Given the description of an element on the screen output the (x, y) to click on. 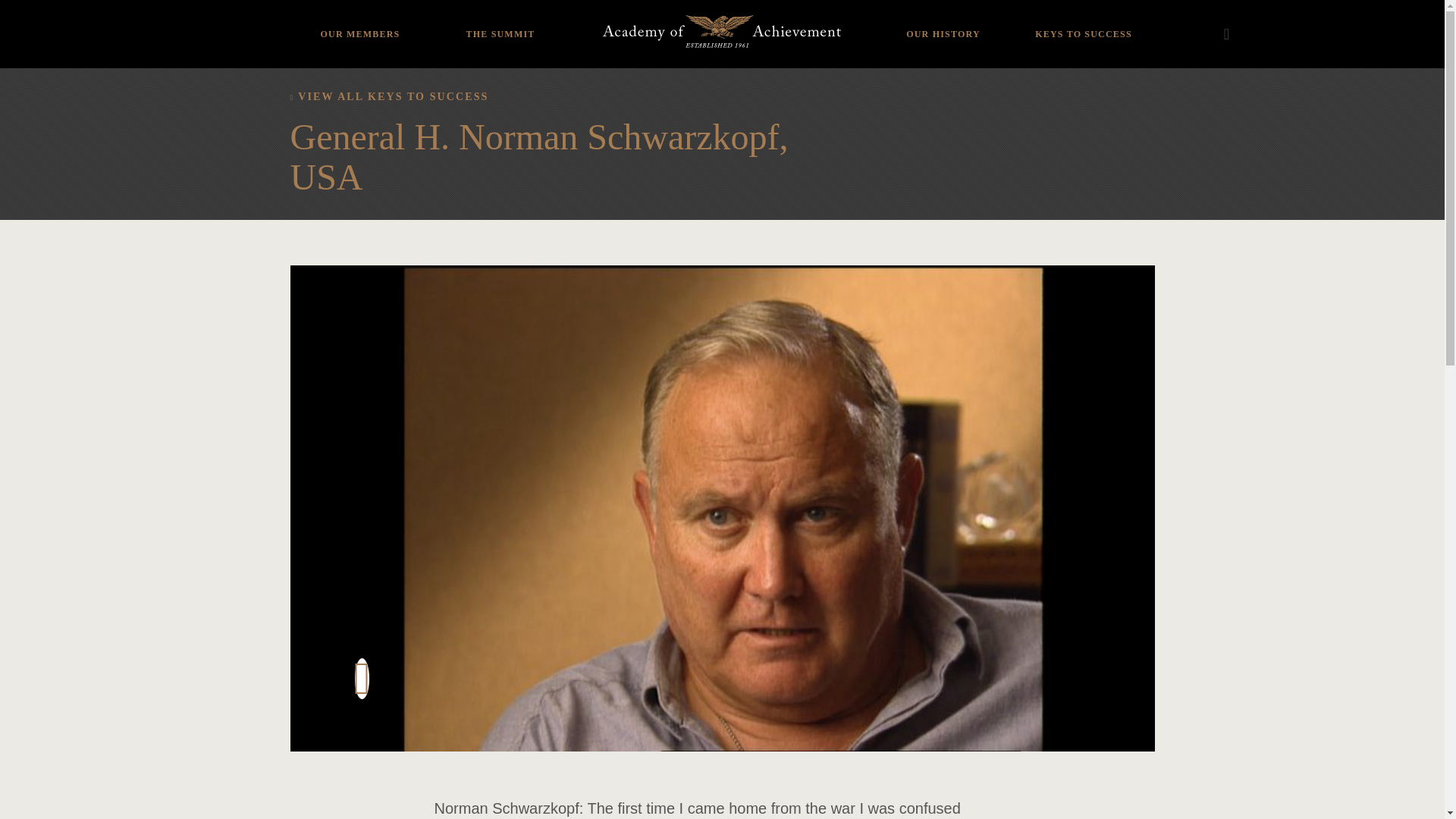
GOLDEN PLATE AWARDEES (943, 18)
2002 (464, 23)
OUR HISTORY (943, 22)
THE SUMMIT (500, 22)
OUR MEMBERS (359, 22)
ACHIEVER UNIVERSE (359, 23)
2003 (464, 5)
KEYS TO SUCCESS (1083, 22)
SPORTS (359, 5)
